Given the description of an element on the screen output the (x, y) to click on. 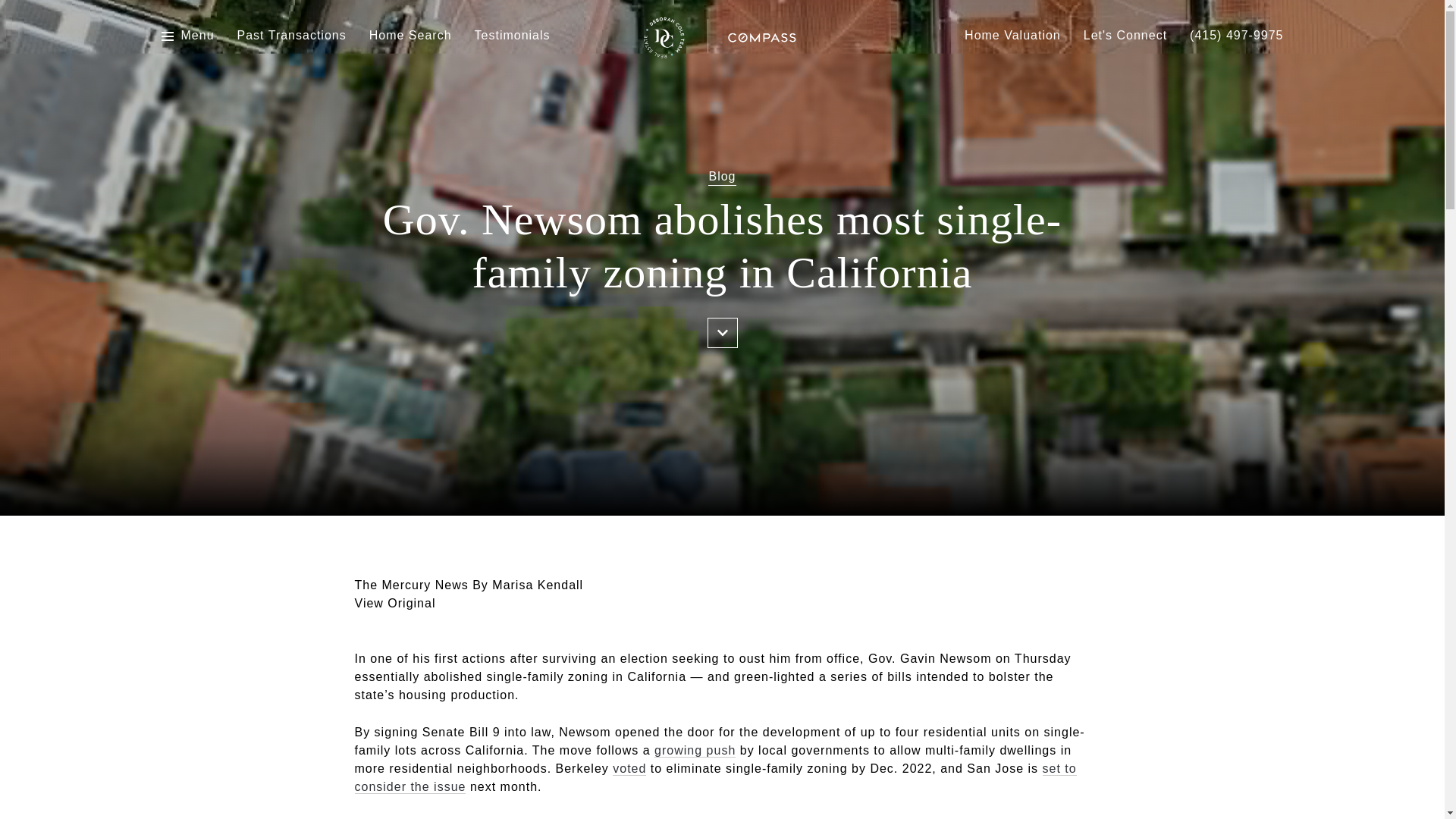
set to consider the issue (716, 777)
voted (629, 768)
Let'S Connect (1125, 35)
Past Transactions (291, 35)
growing push (694, 750)
Home Search (410, 35)
Menu (197, 35)
View Original (395, 603)
Home Valuation (1012, 35)
Menu (187, 35)
